Given the description of an element on the screen output the (x, y) to click on. 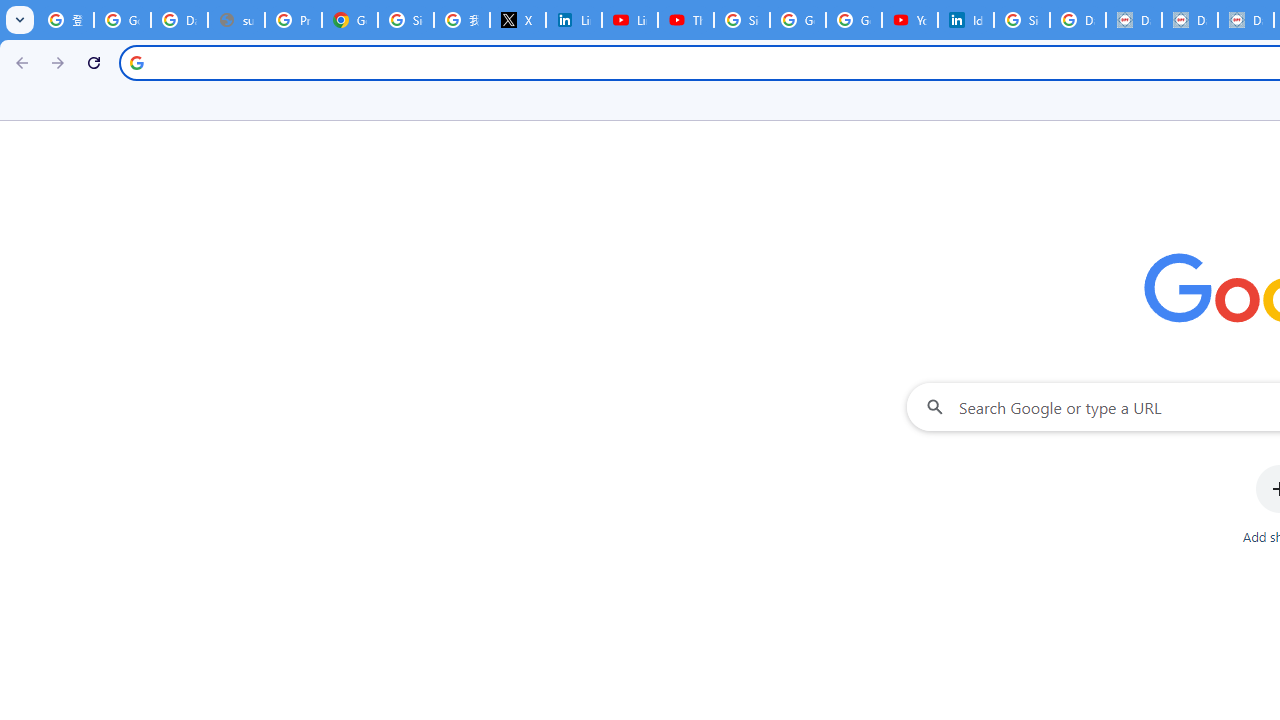
support.google.com - Network error (235, 20)
LinkedIn Privacy Policy (573, 20)
Data Privacy Framework (1133, 20)
